Given the description of an element on the screen output the (x, y) to click on. 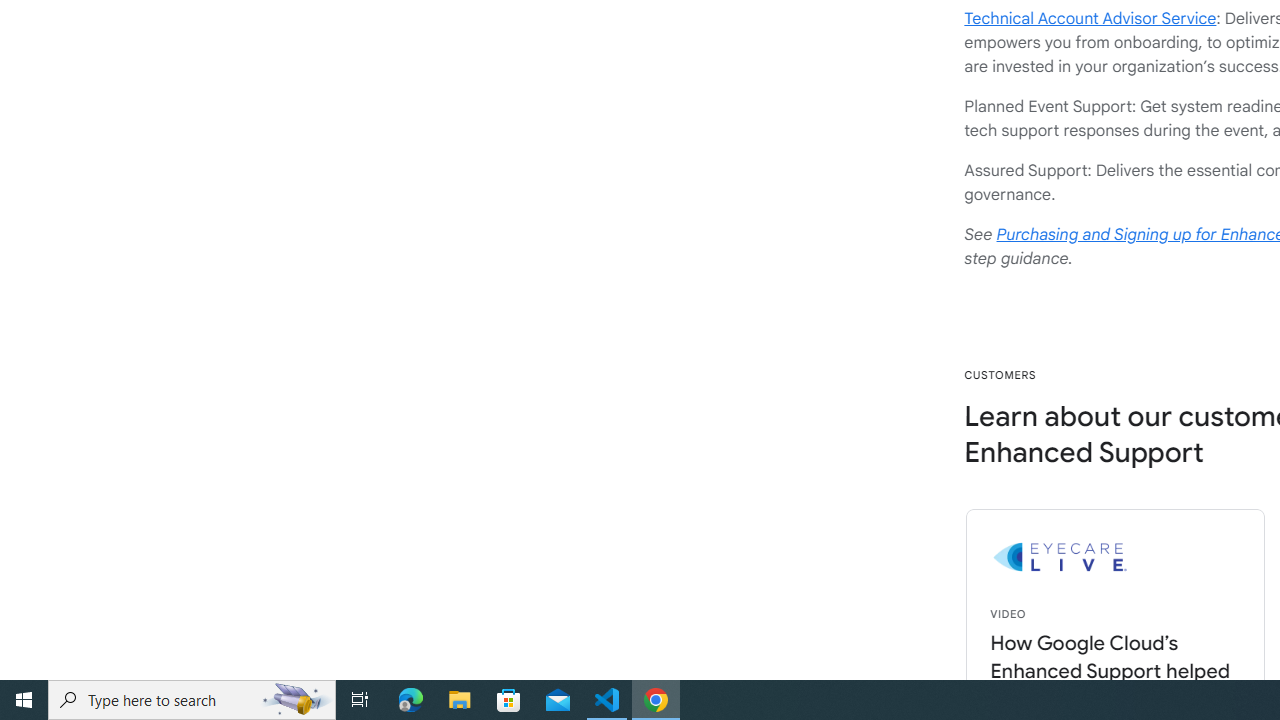
Technical Account Advisor Service (1090, 18)
